Given the description of an element on the screen output the (x, y) to click on. 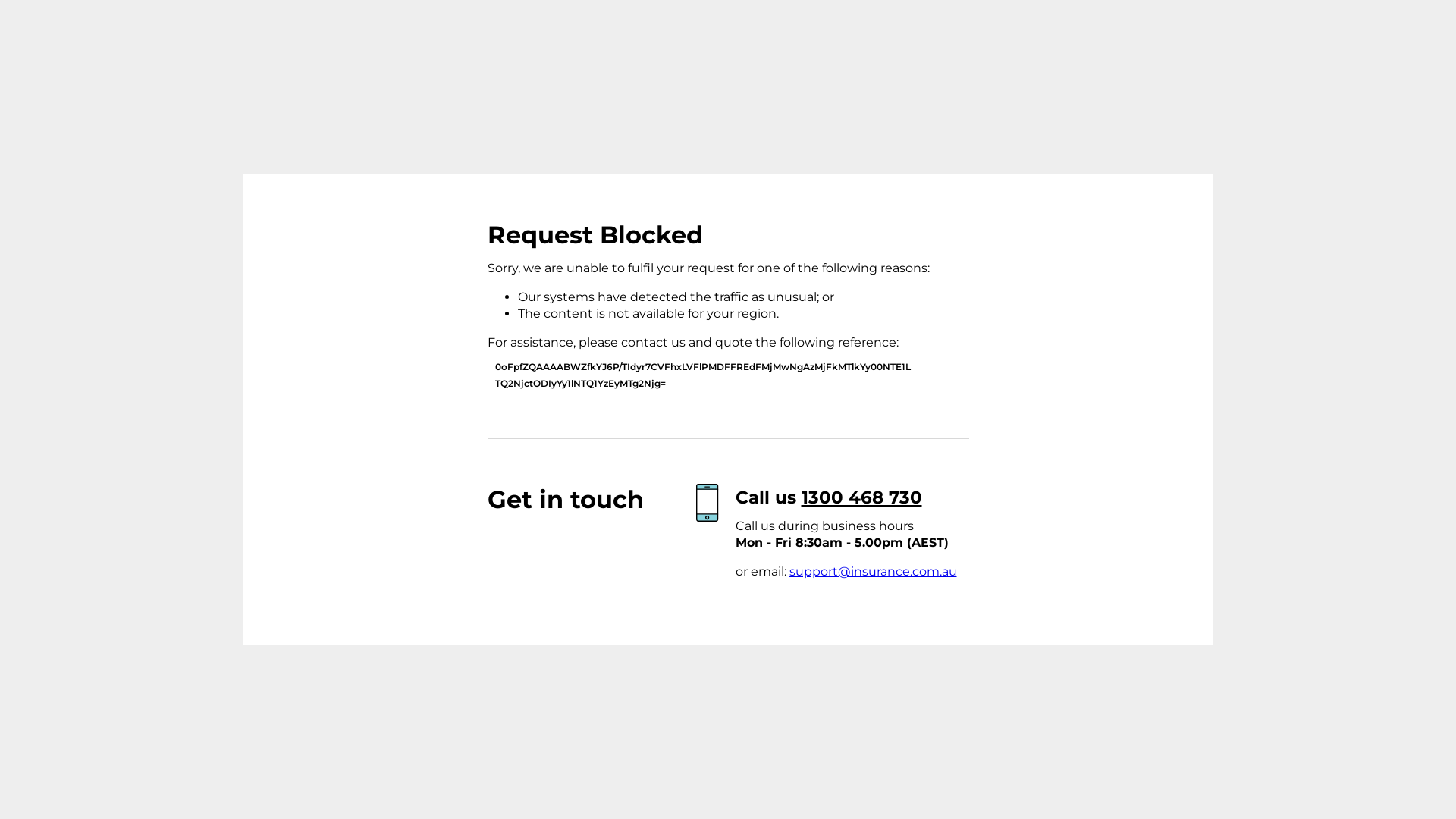
support@insurance.com.au Element type: text (872, 571)
1300 468 730 Element type: text (860, 497)
Insurance.com.au Element type: text (377, 264)
